Given the description of an element on the screen output the (x, y) to click on. 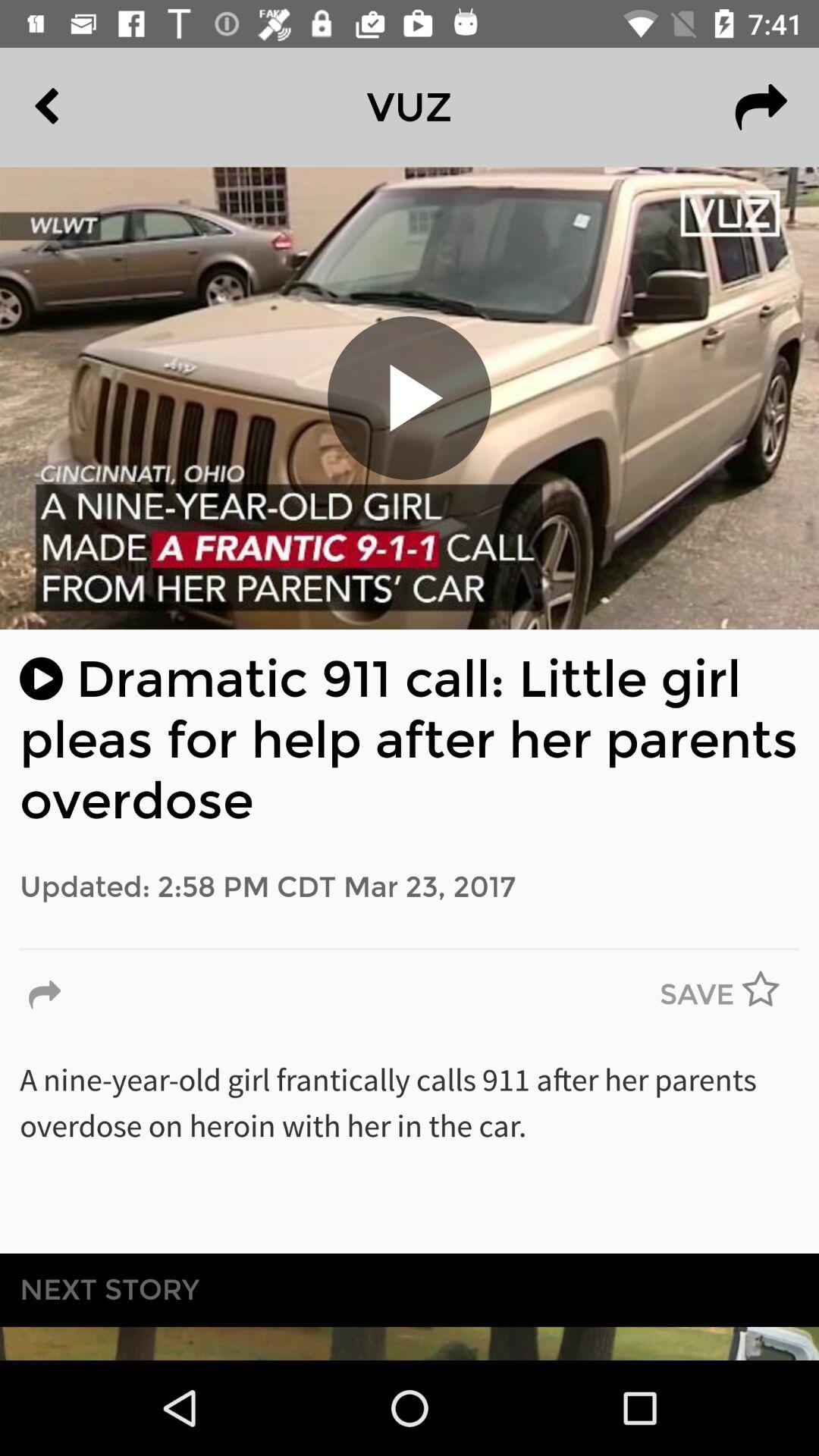
turn on the icon above updated 2 58 icon (409, 739)
